Given the description of an element on the screen output the (x, y) to click on. 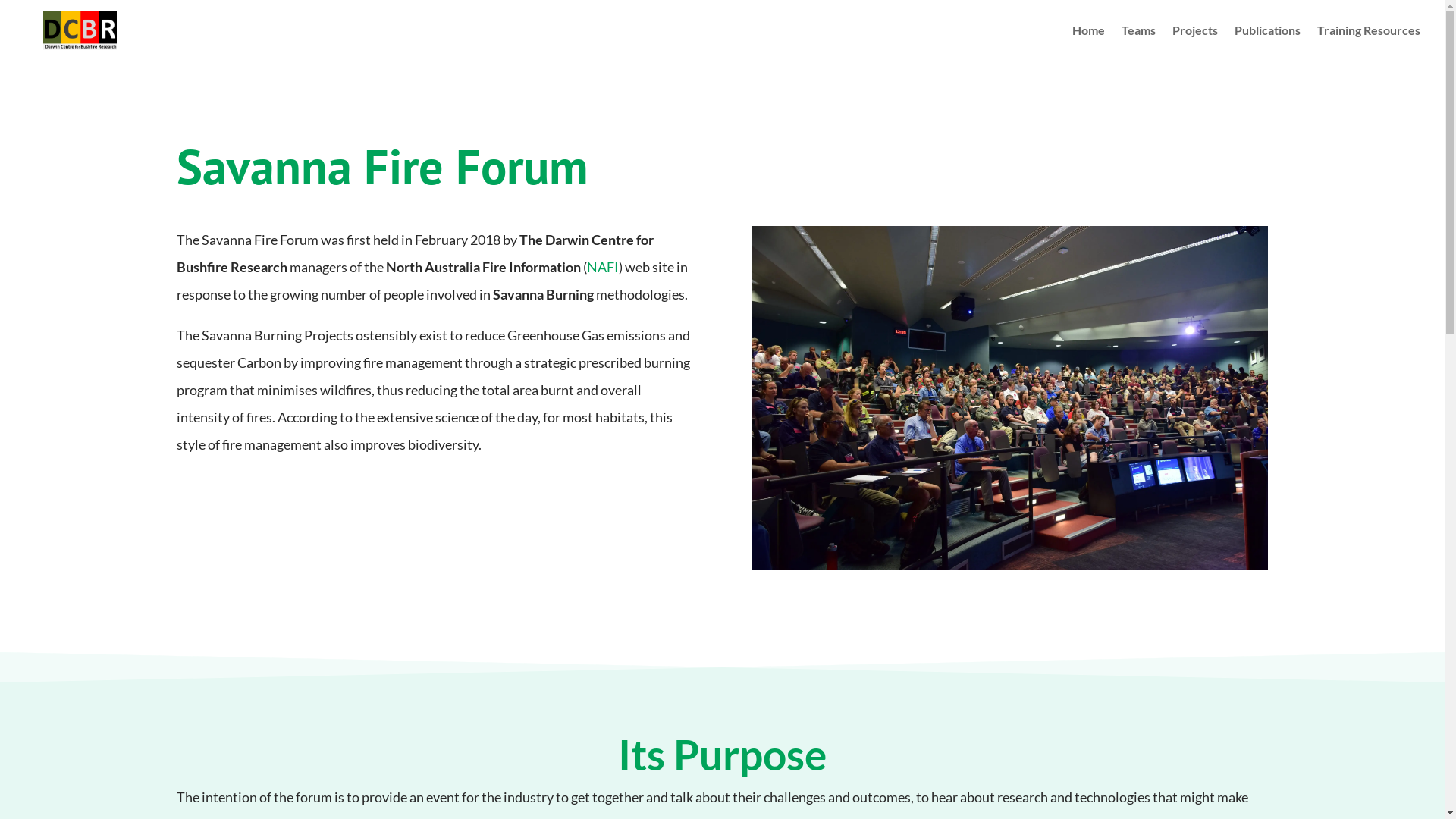
Teams Element type: text (1138, 42)
Savanna Fire Forum Element type: hover (1009, 397)
Training Resources Element type: text (1368, 42)
Projects Element type: text (1194, 42)
Publications Element type: text (1267, 42)
NAFI Element type: text (602, 266)
Home Element type: text (1088, 42)
